Given the description of an element on the screen output the (x, y) to click on. 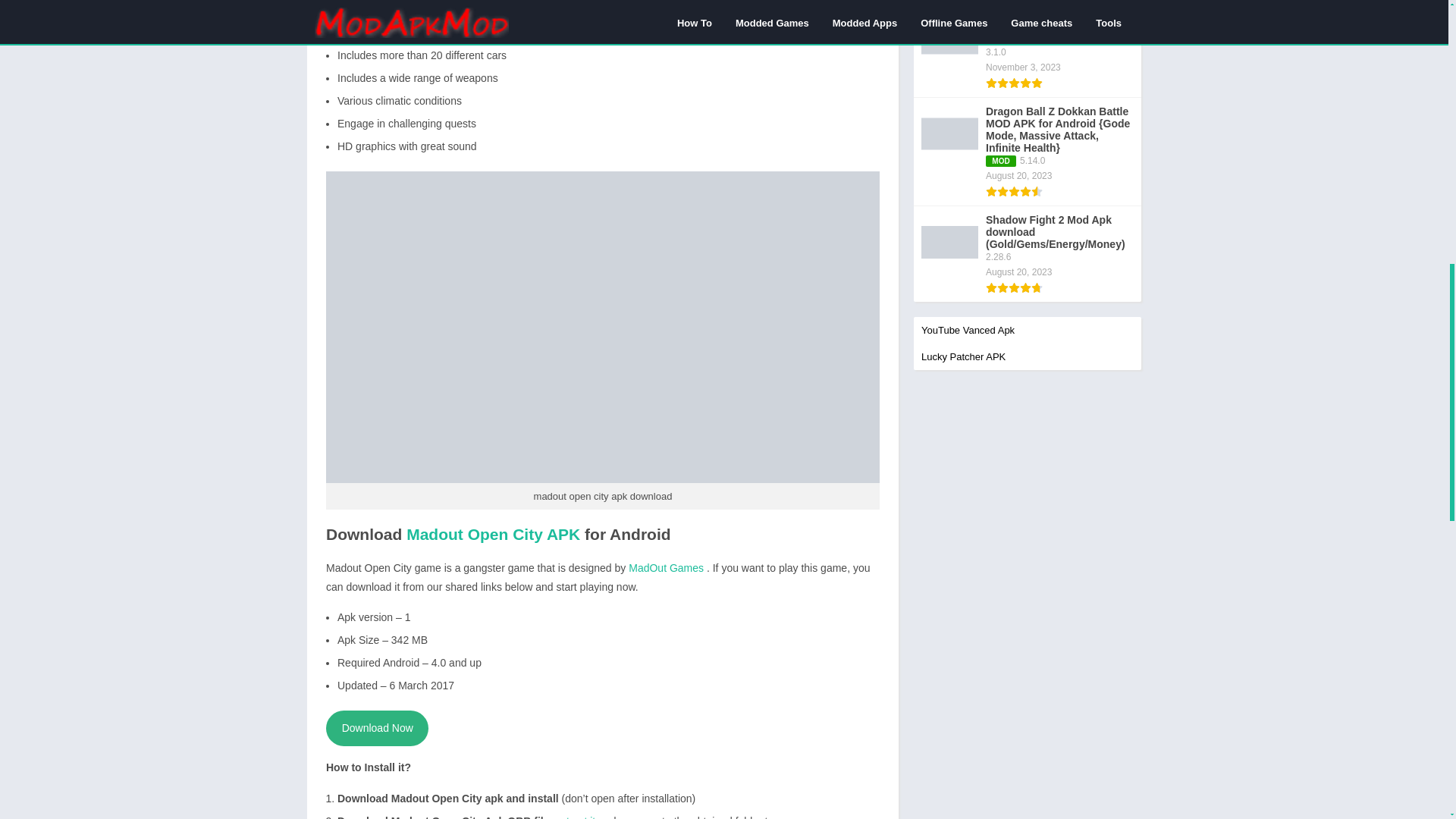
Download Now (377, 728)
Madout Open City APK (492, 533)
extract it (574, 816)
MadOut Games  (667, 567)
